Given the description of an element on the screen output the (x, y) to click on. 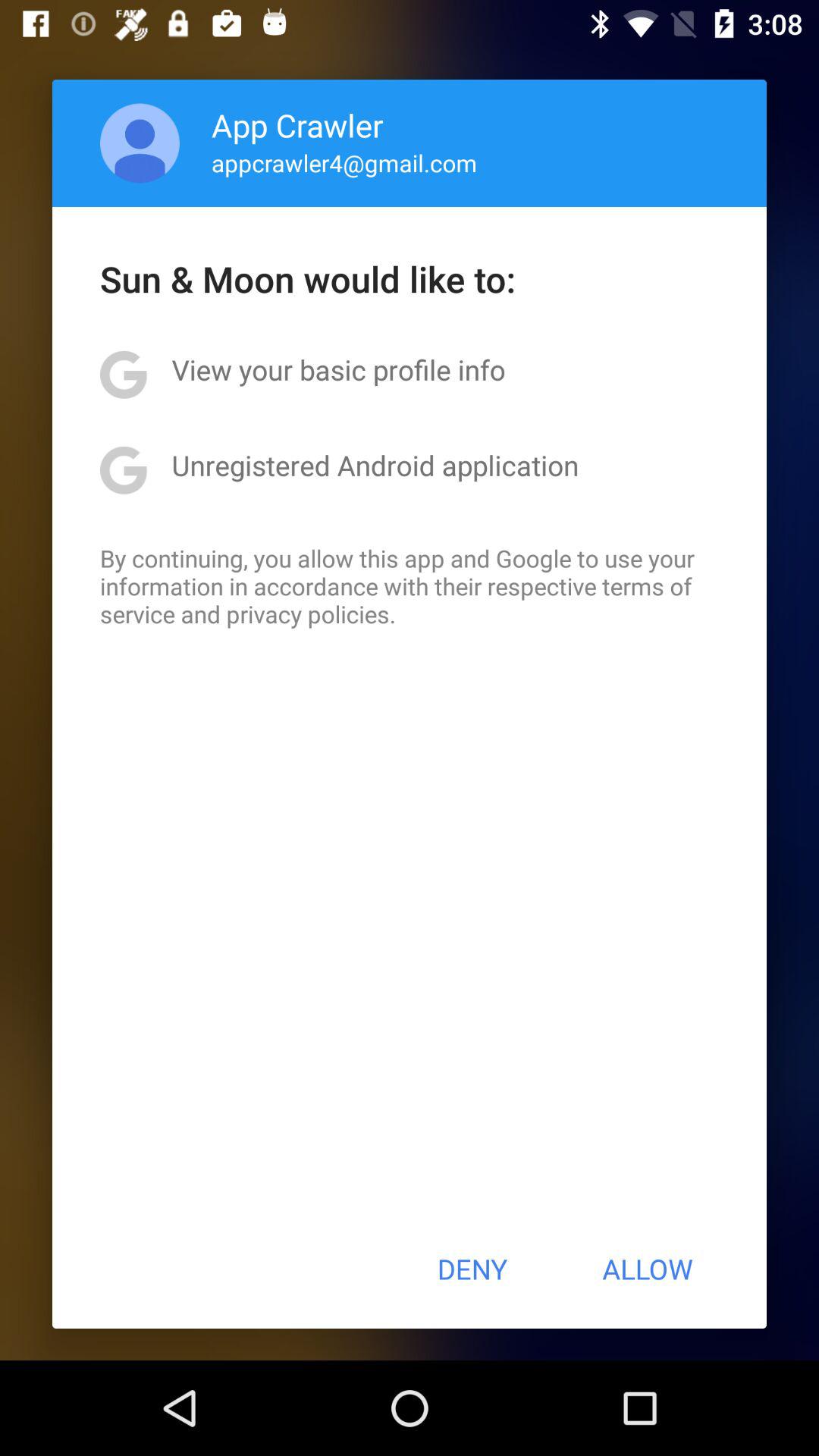
select the icon above the sun moon would icon (344, 162)
